Given the description of an element on the screen output the (x, y) to click on. 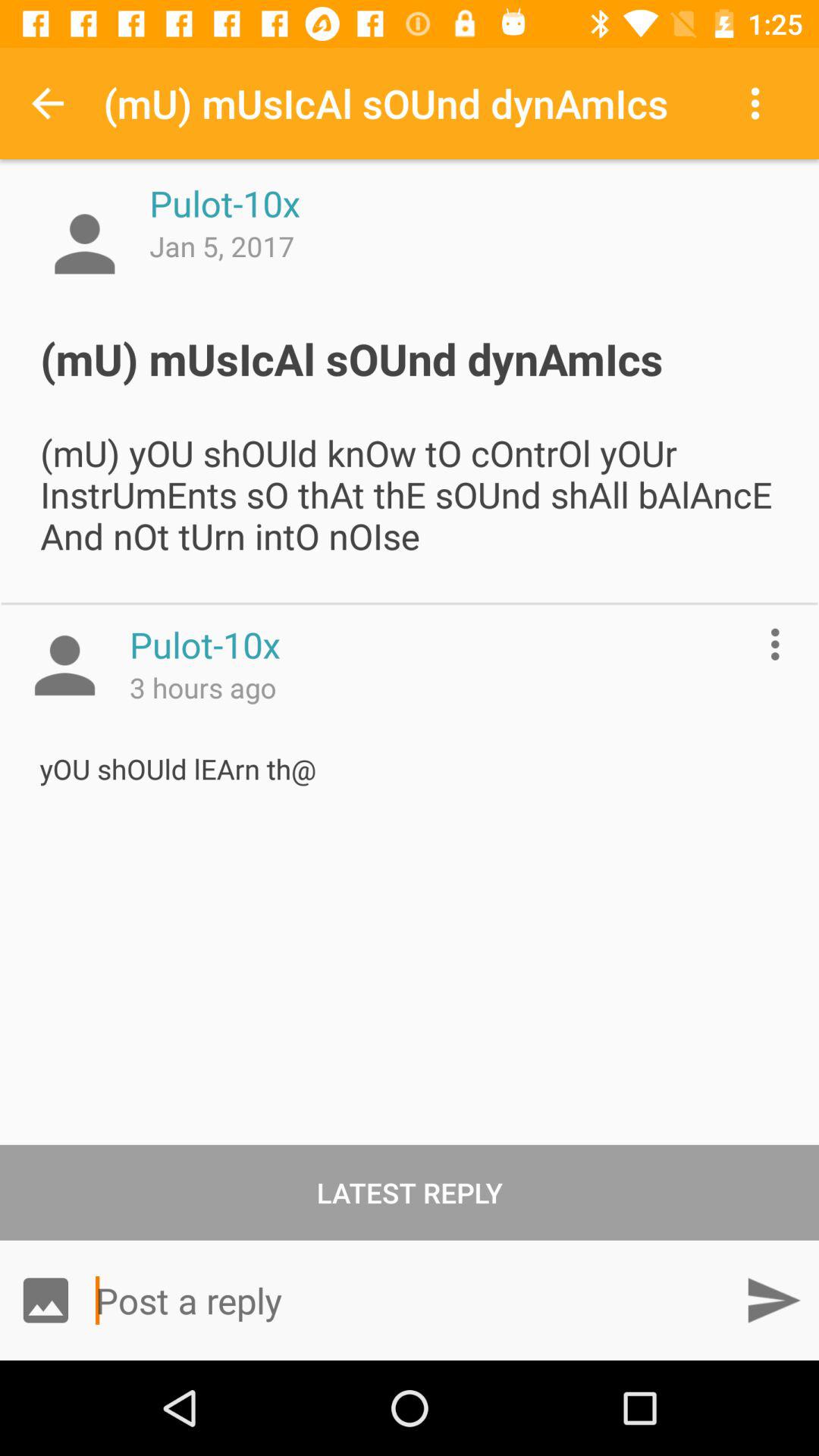
post a reply (409, 1300)
